Given the description of an element on the screen output the (x, y) to click on. 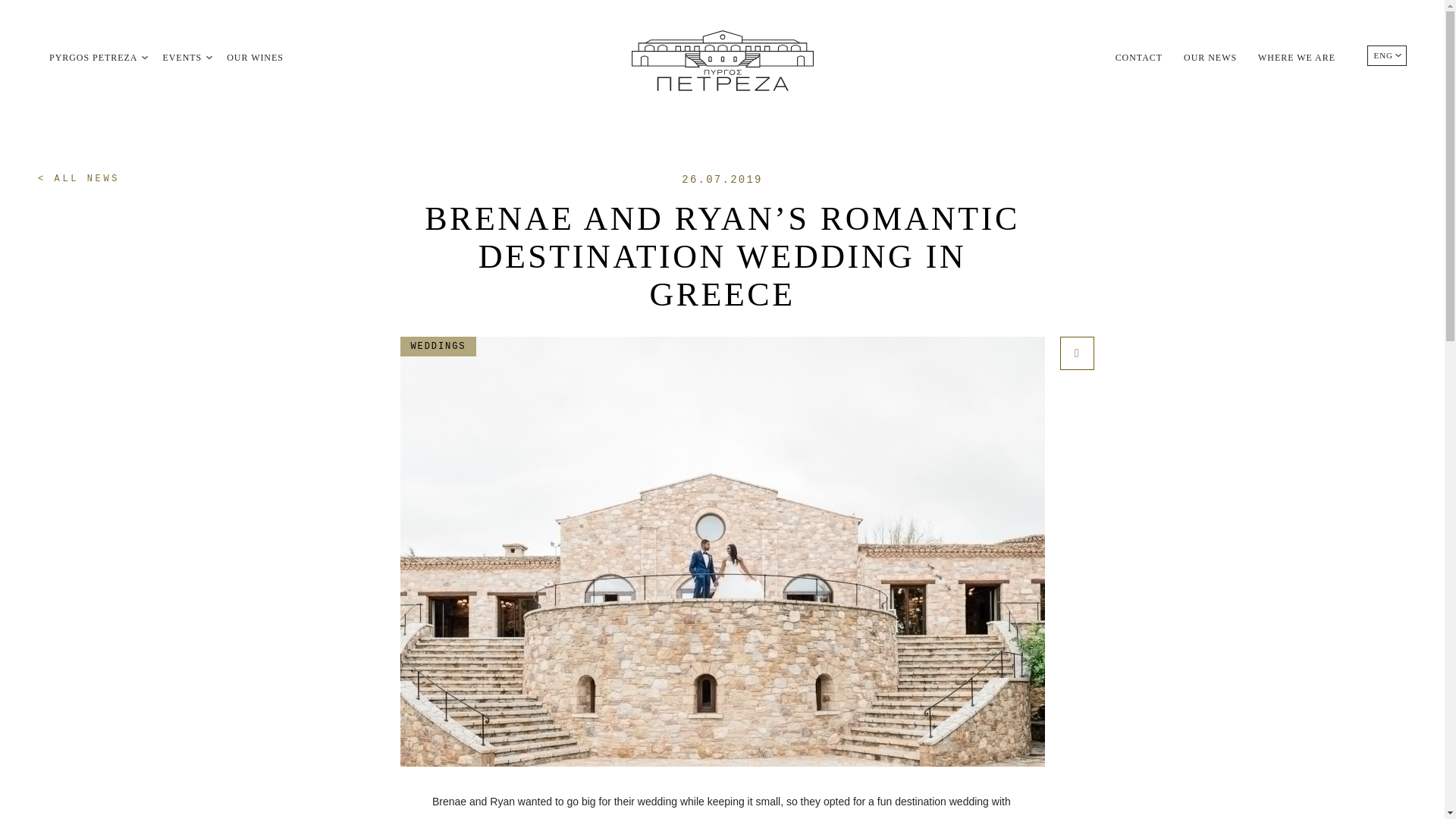
EVENTS (181, 58)
PYRGOS PETREZA (92, 58)
OUR NEWS (1209, 58)
WHERE WE ARE (1296, 58)
CONTACT (1138, 58)
OUR WINES (255, 58)
ENG (1383, 55)
